Given the description of an element on the screen output the (x, y) to click on. 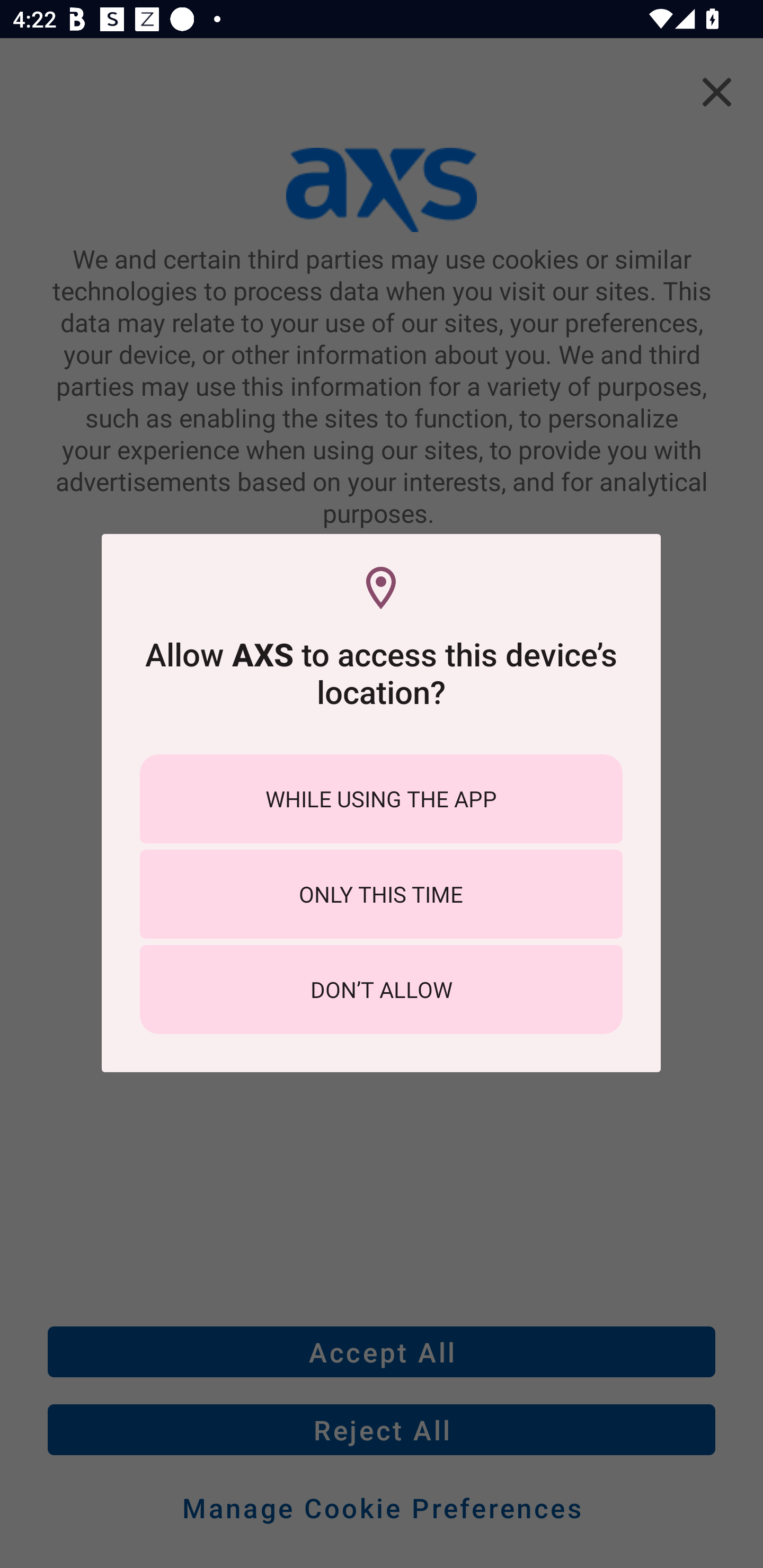
WHILE USING THE APP (380, 798)
ONLY THIS TIME (380, 894)
DON’T ALLOW (380, 989)
